Given the description of an element on the screen output the (x, y) to click on. 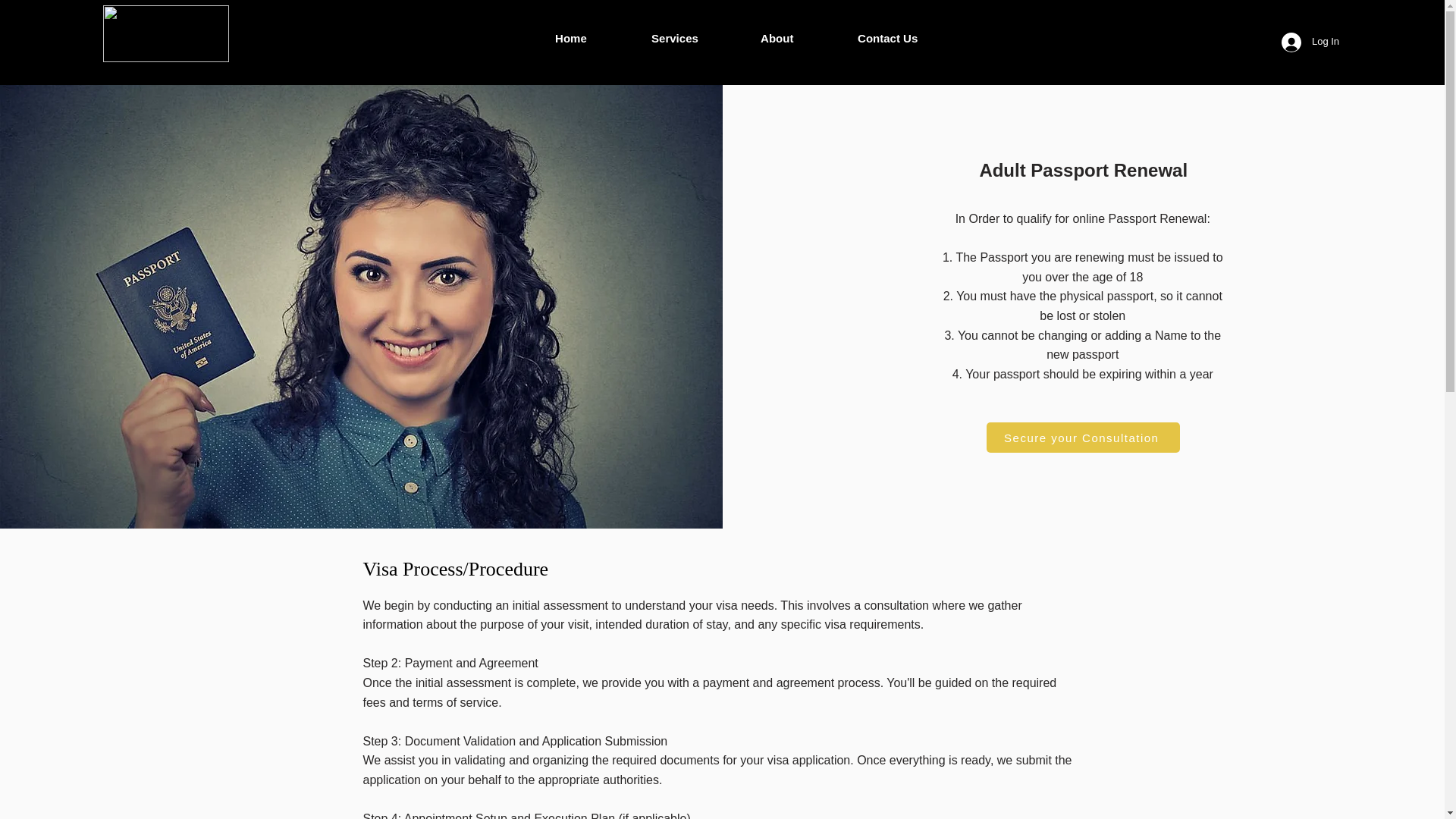
Log In (1307, 41)
Home (591, 38)
Contact Us (907, 38)
About (797, 38)
Secure your Consultation (1083, 437)
Services (694, 38)
